Given the description of an element on the screen output the (x, y) to click on. 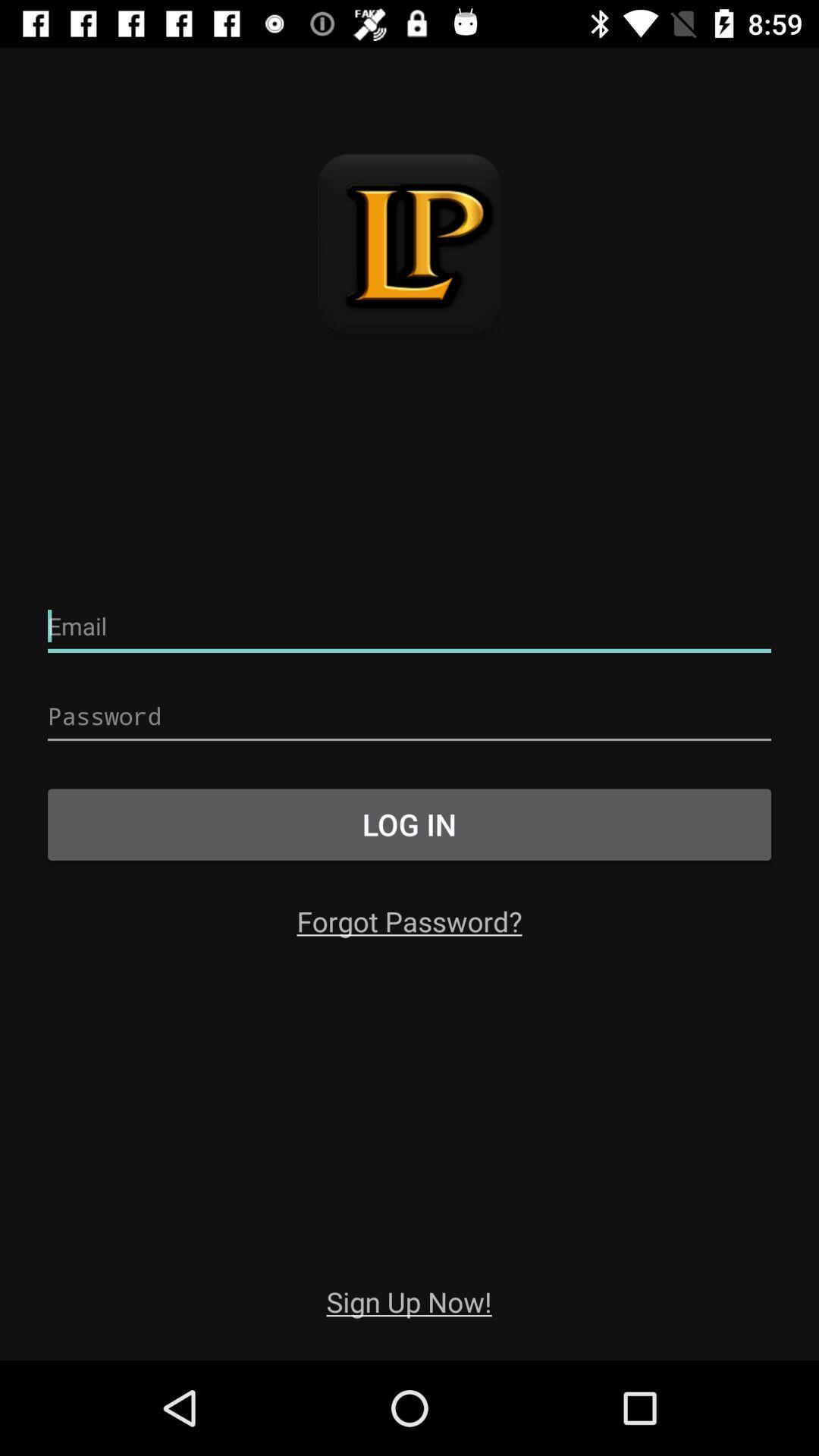
open forgot password? icon (409, 921)
